Given the description of an element on the screen output the (x, y) to click on. 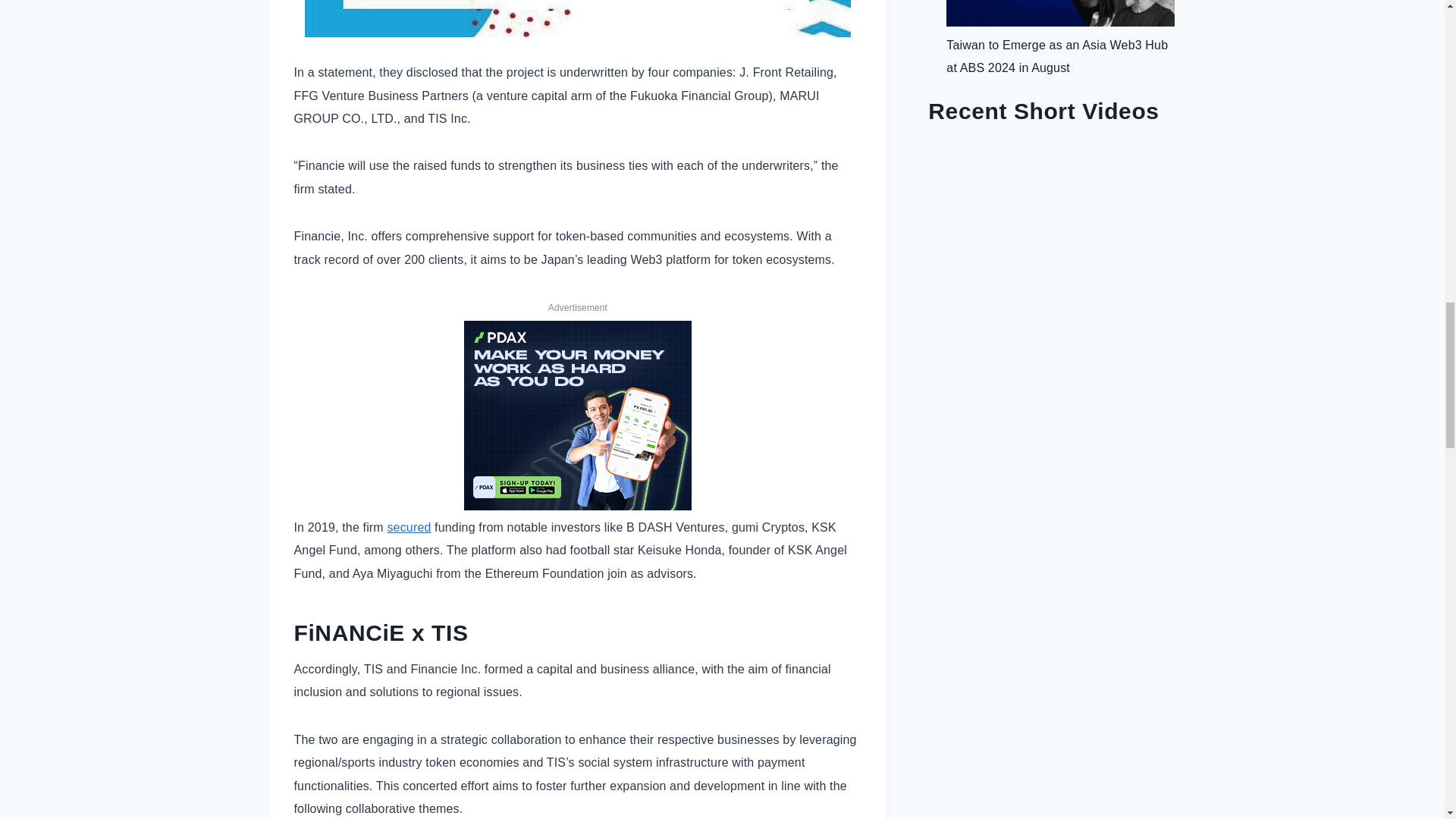
secured (408, 526)
Taiwan to Emerge as an Asia Web3 Hub at ABS 2024 in August 7 (1060, 13)
